Given the description of an element on the screen output the (x, y) to click on. 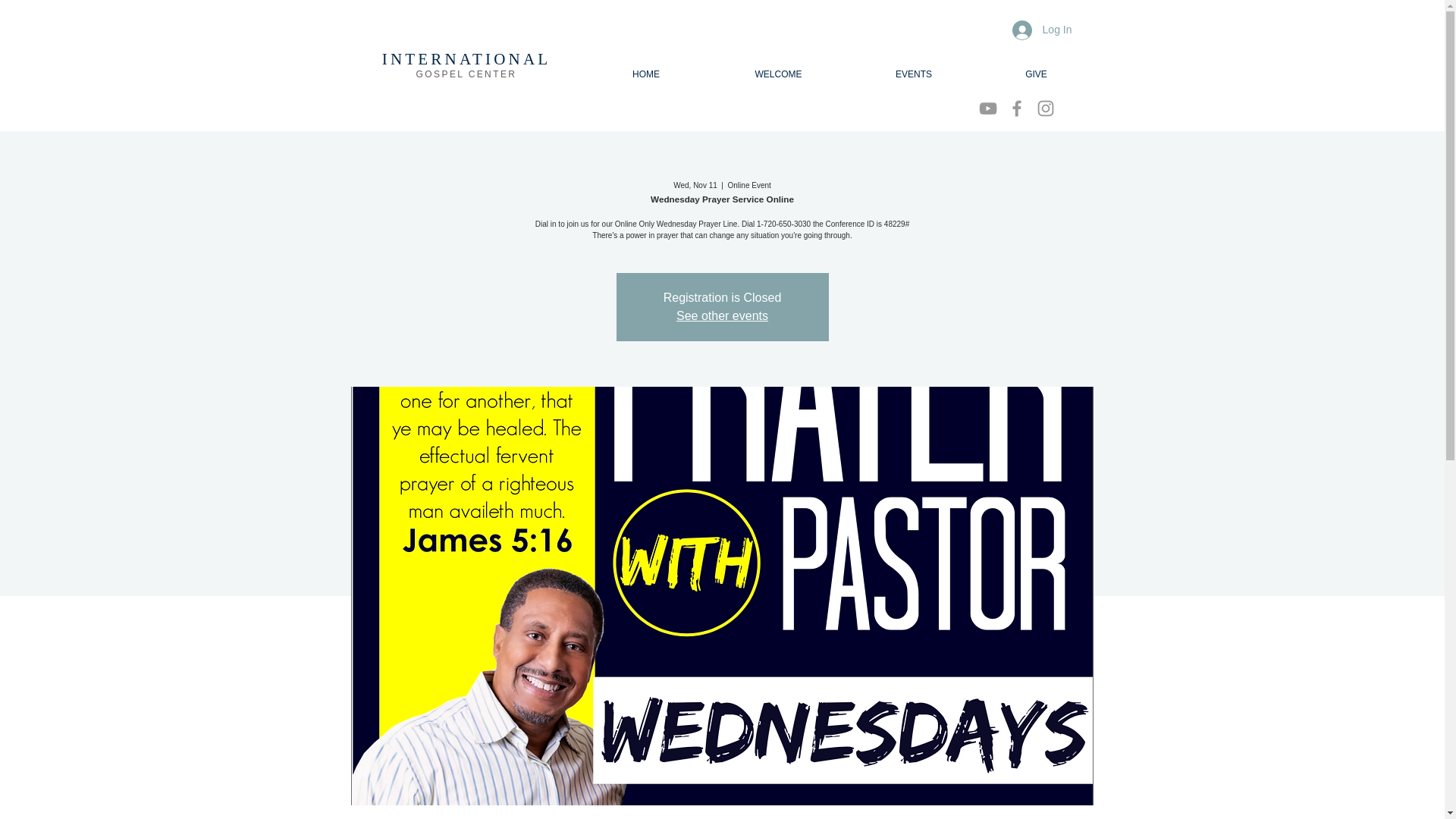
EVENTS (913, 74)
WELCOME (777, 74)
See other events (722, 315)
Log In (1042, 30)
HOME (645, 74)
GIVE (1035, 74)
INTERNATIONAL (466, 58)
